Given the description of an element on the screen output the (x, y) to click on. 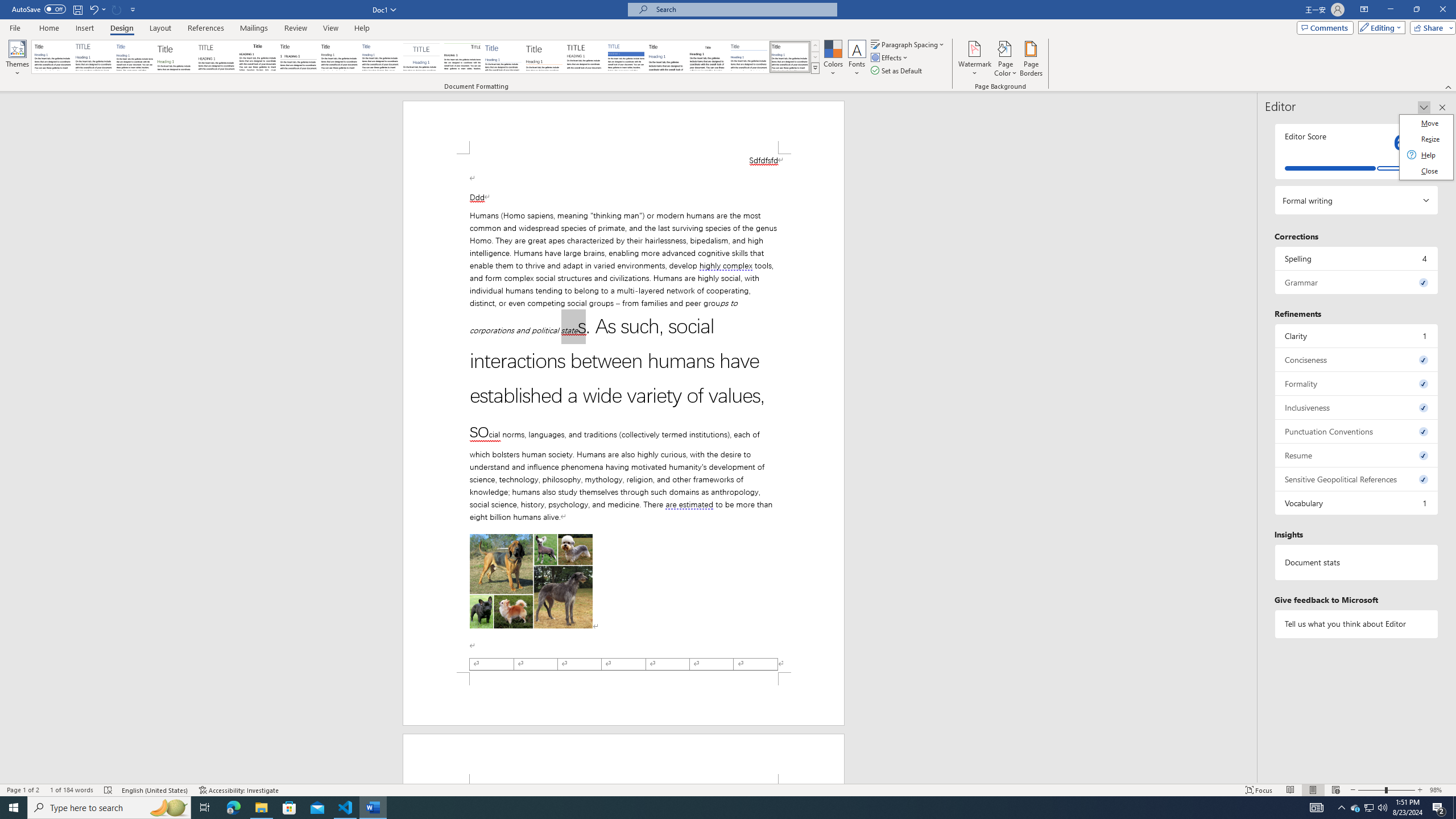
Tell us what you think about Editor (1356, 624)
Minimalist (584, 56)
